Given the description of an element on the screen output the (x, y) to click on. 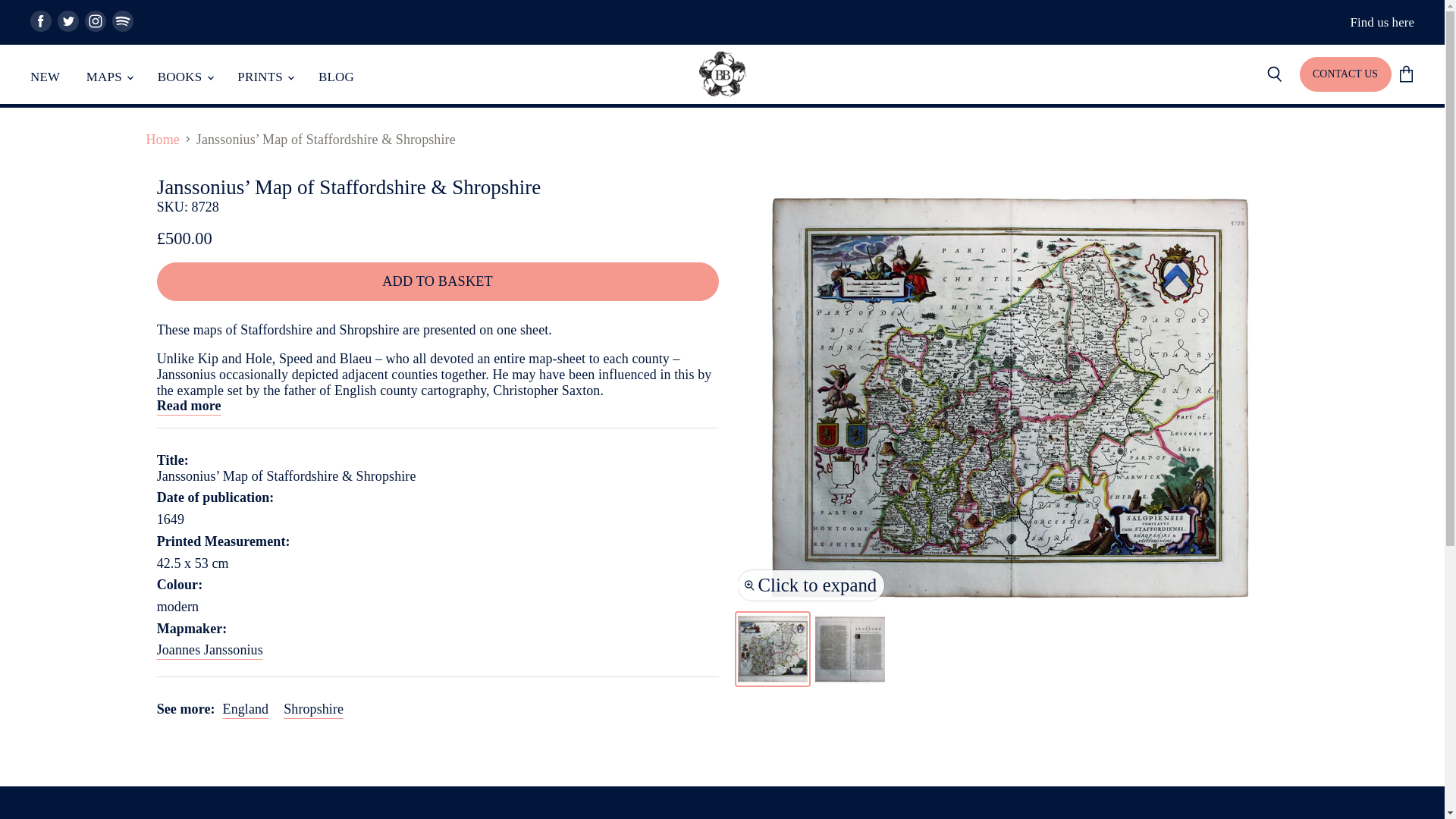
Instagram (95, 21)
Twitter (68, 21)
Find us on Twitter (68, 21)
Find us on Facebook (41, 21)
Pinterest (122, 21)
Search (1274, 73)
Find us on Pinterest (122, 21)
MAPS (108, 77)
Find us here (1382, 22)
NEW (44, 77)
Find us on Instagram (95, 21)
Facebook (41, 21)
